Given the description of an element on the screen output the (x, y) to click on. 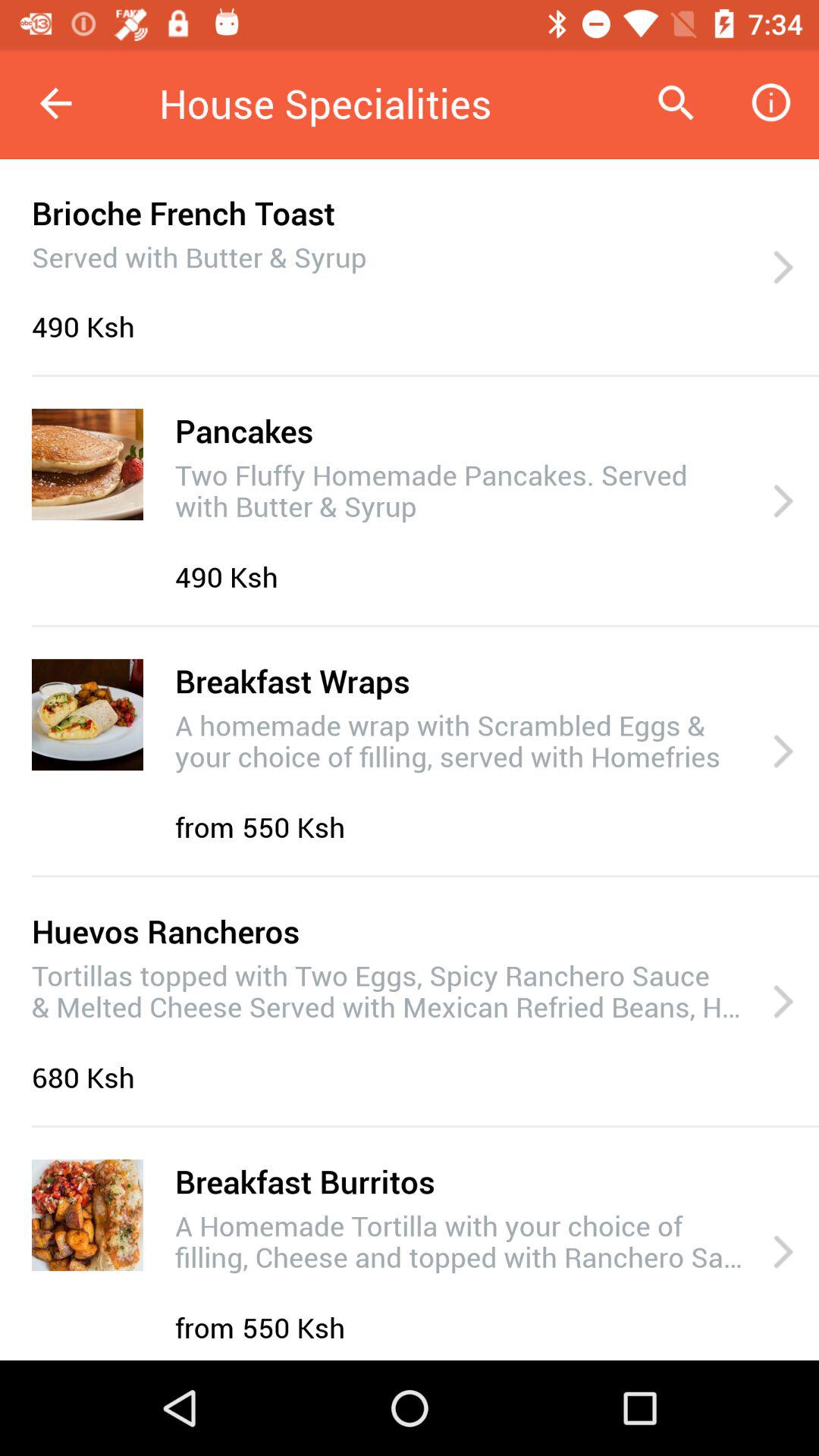
scroll to huevos rancheros (165, 930)
